Given the description of an element on the screen output the (x, y) to click on. 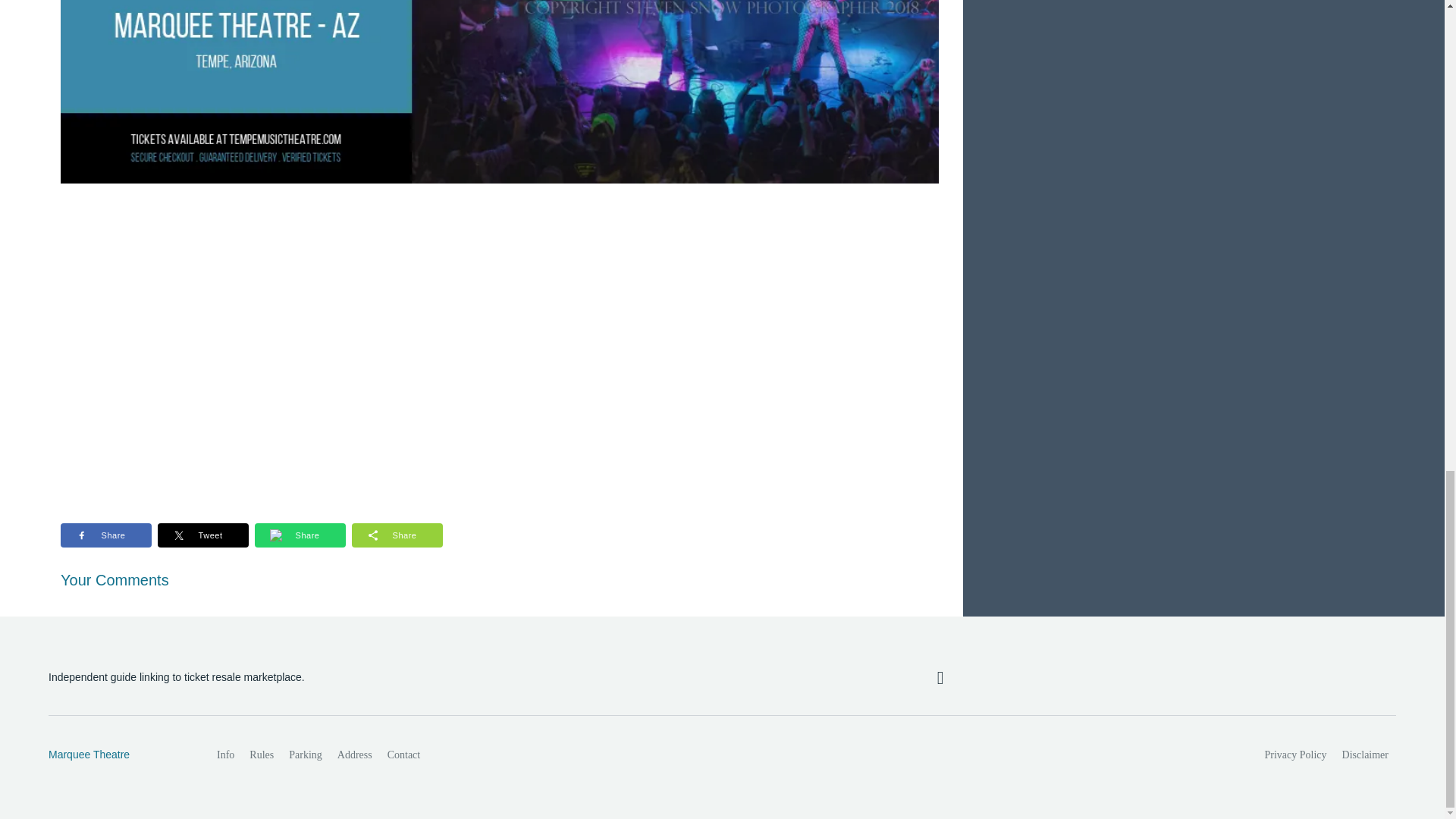
Contact (404, 755)
Address (355, 755)
Info (225, 755)
Marquee Theatre (116, 754)
Parking (305, 755)
Rules (261, 755)
Privacy Policy (1296, 755)
Disclaimer (1365, 755)
